Given the description of an element on the screen output the (x, y) to click on. 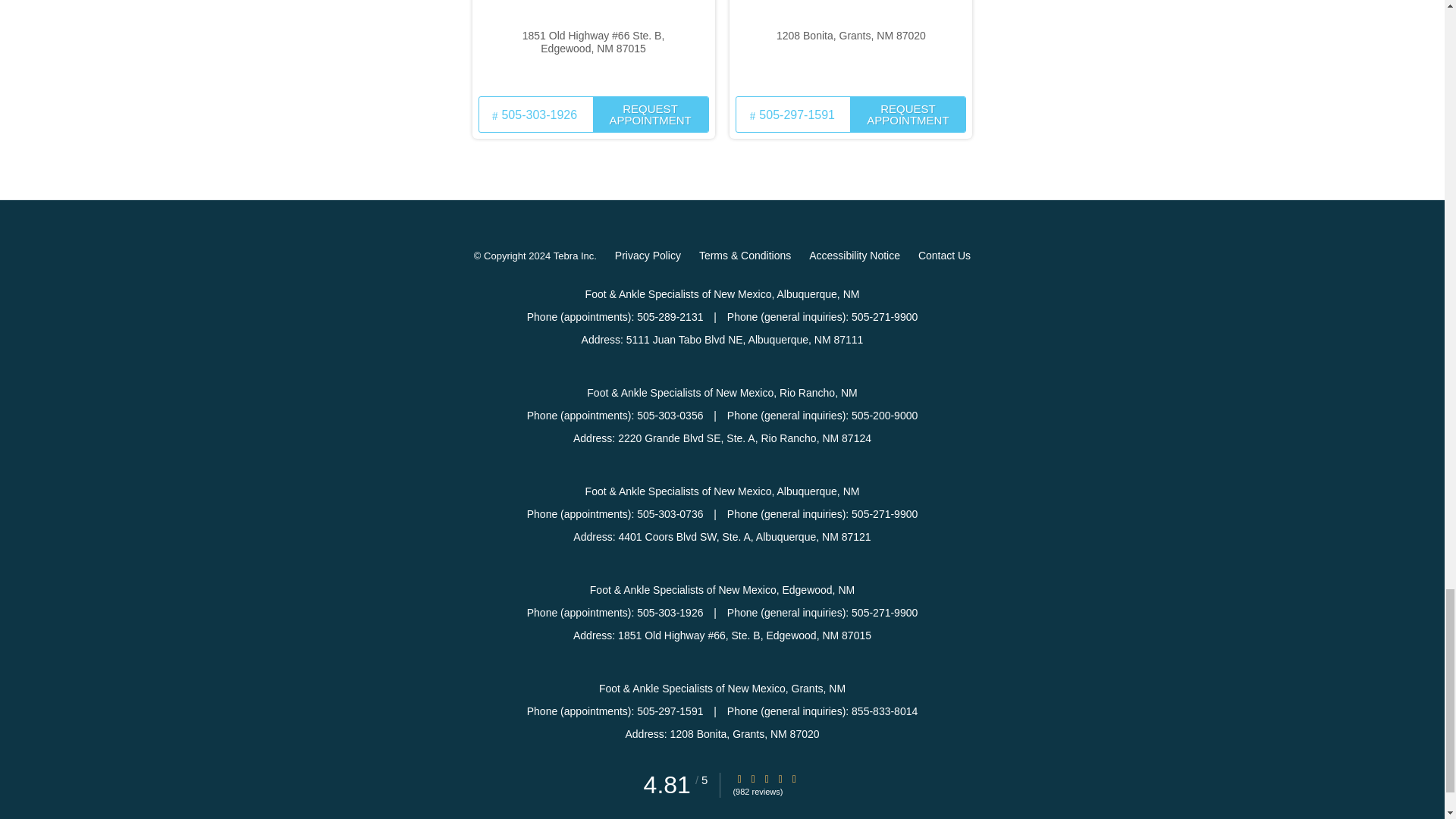
Star Rating (753, 778)
Star Rating (794, 778)
Star Rating (766, 778)
Star Rating (780, 778)
Map of Edgewood (592, 45)
Map of Grants (850, 45)
Star Rating (738, 778)
